Given the description of an element on the screen output the (x, y) to click on. 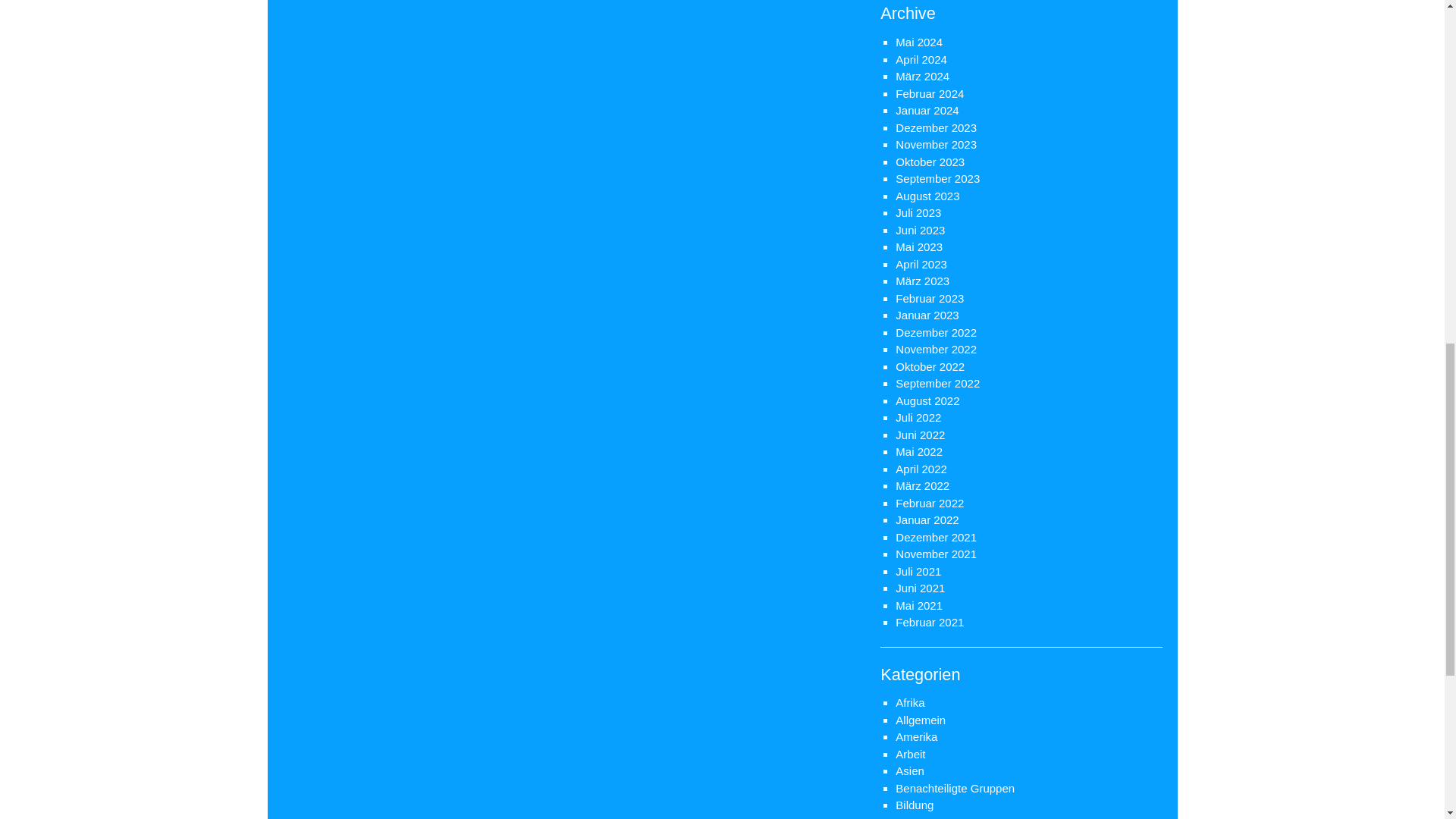
September 2023 (937, 178)
Januar 2024 (926, 110)
Juli 2023 (917, 212)
August 2023 (927, 195)
Juni 2023 (919, 228)
Januar 2023 (926, 314)
Oktober 2023 (929, 160)
April 2023 (921, 264)
Dezember 2023 (935, 127)
Februar 2023 (929, 297)
